Given the description of an element on the screen output the (x, y) to click on. 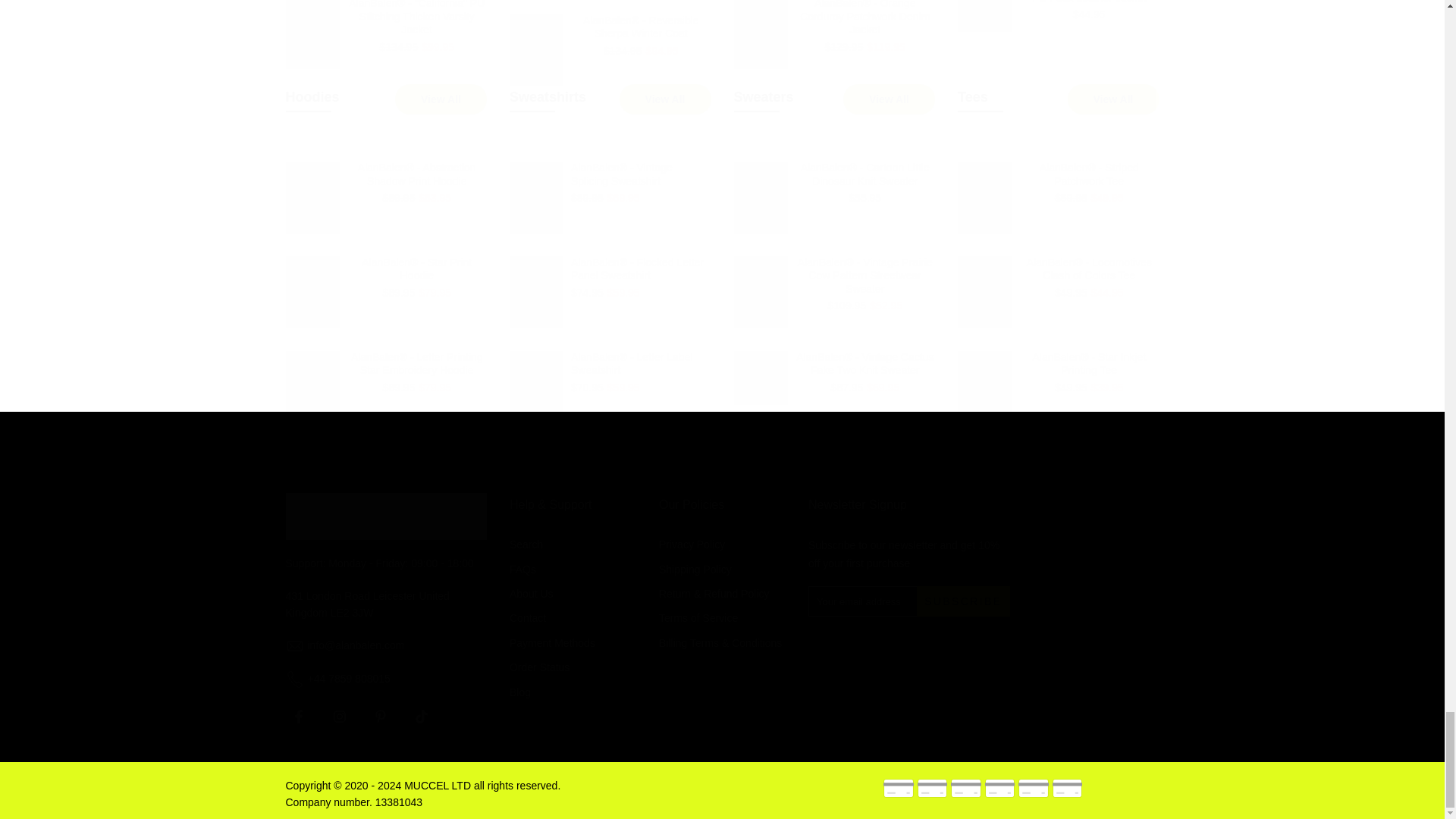
Follow on Tiktok (420, 716)
Follow on Facebook (298, 716)
Follow on Instagram (339, 716)
Follow on Pinterest (379, 716)
